Given the description of an element on the screen output the (x, y) to click on. 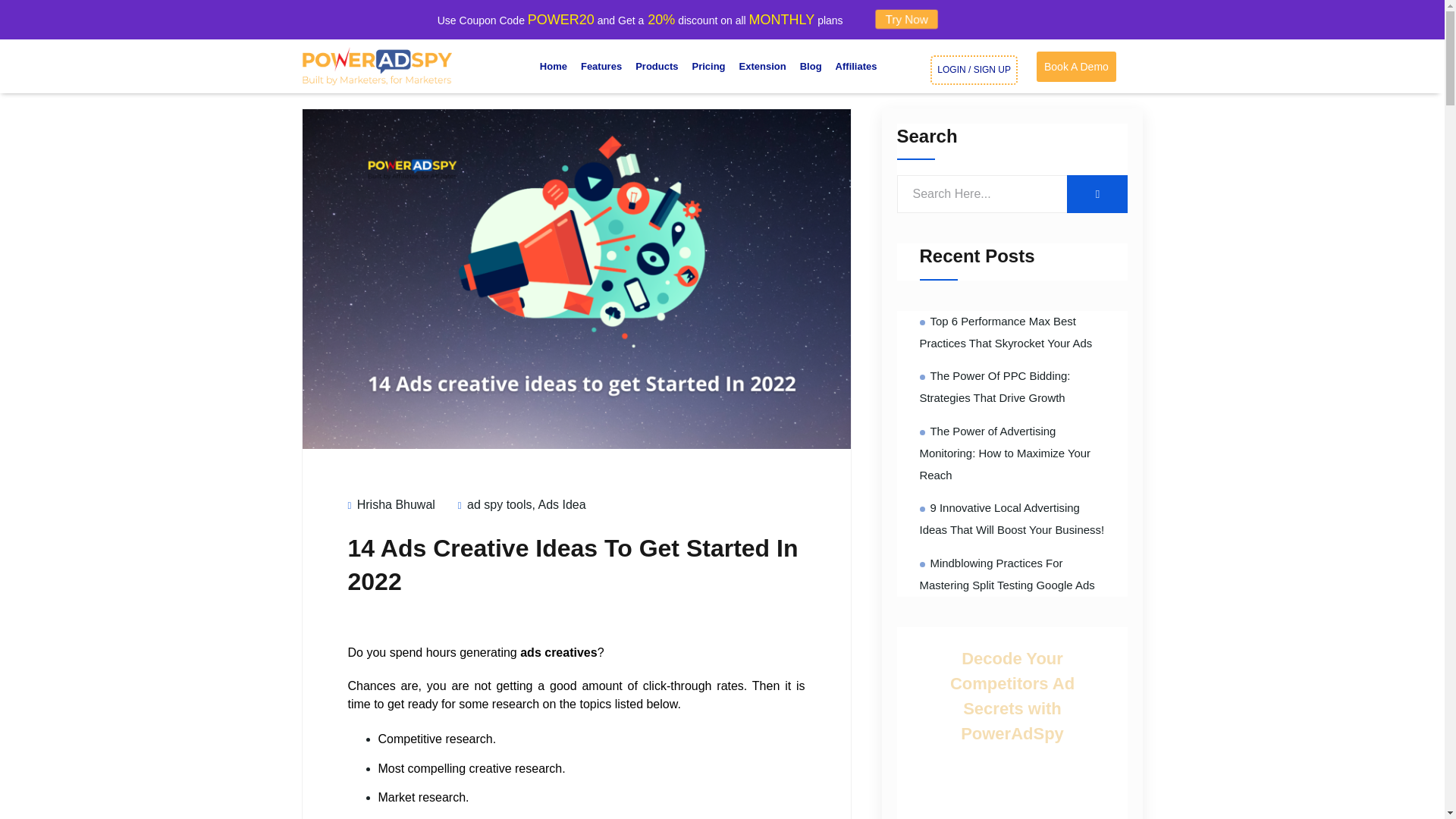
Extension (762, 66)
Features (600, 66)
Try Now (906, 18)
Home (552, 66)
Affiliates (855, 66)
Blog (810, 66)
Products (656, 66)
Pricing (708, 66)
Book A Demo (1076, 66)
